Given the description of an element on the screen output the (x, y) to click on. 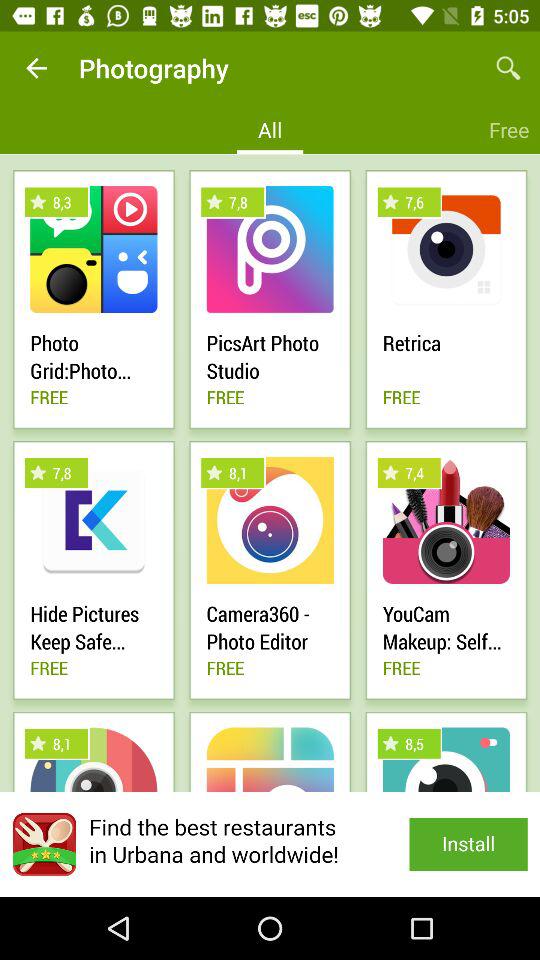
advertisement (270, 844)
